Given the description of an element on the screen output the (x, y) to click on. 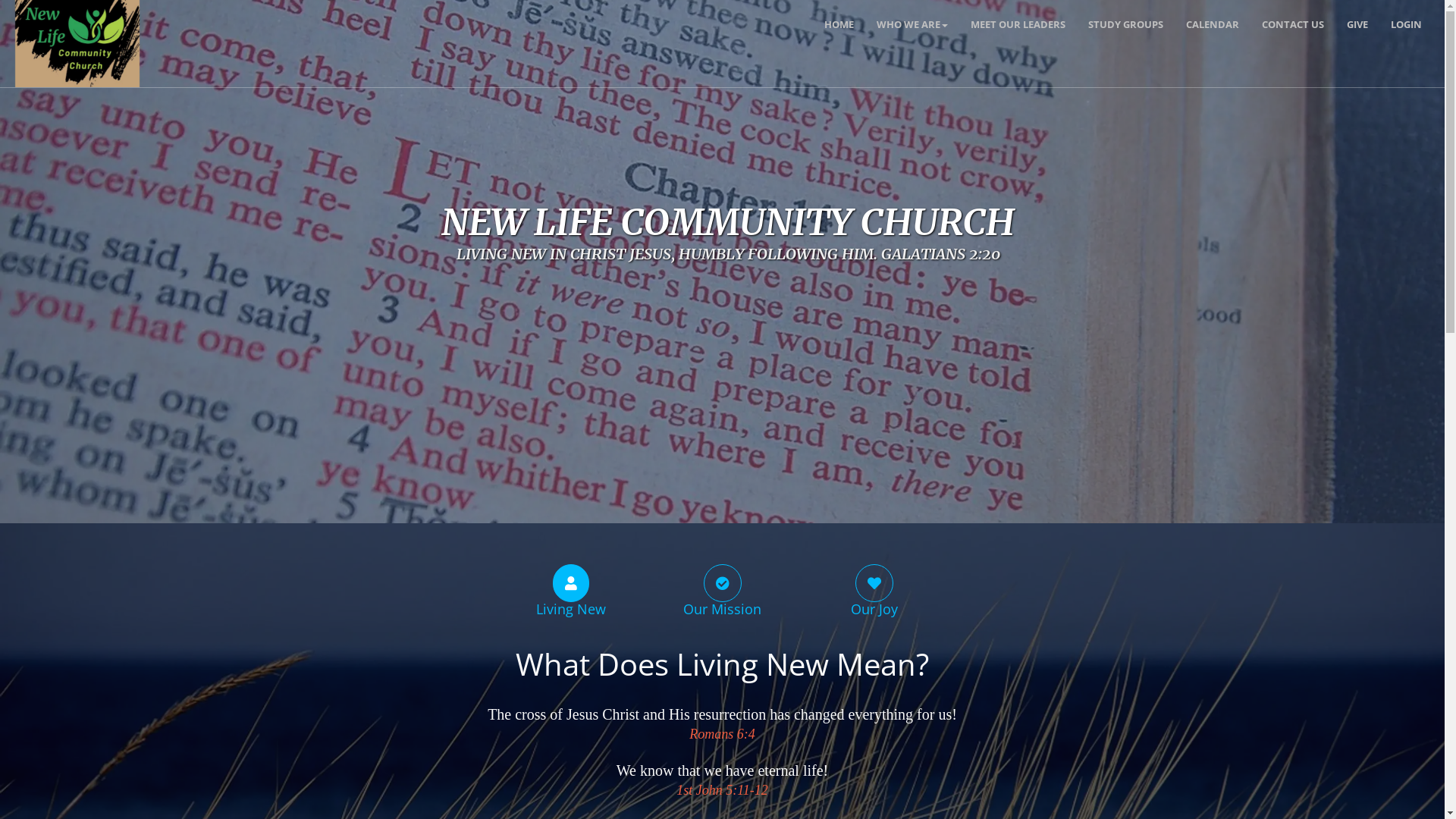
HOME Element type: text (838, 24)
STUDY GROUPS Element type: text (1125, 24)
WHO WE ARE Element type: text (912, 24)
CONTACT US Element type: text (1292, 24)
CALENDAR Element type: text (1212, 24)
Romans 6:4 Element type: text (722, 734)
GIVE Element type: text (1357, 24)
LOGIN Element type: text (1406, 24)
MEET OUR LEADERS Element type: text (1017, 24)
1st John 5:11-12 Element type: text (722, 790)
